Given the description of an element on the screen output the (x, y) to click on. 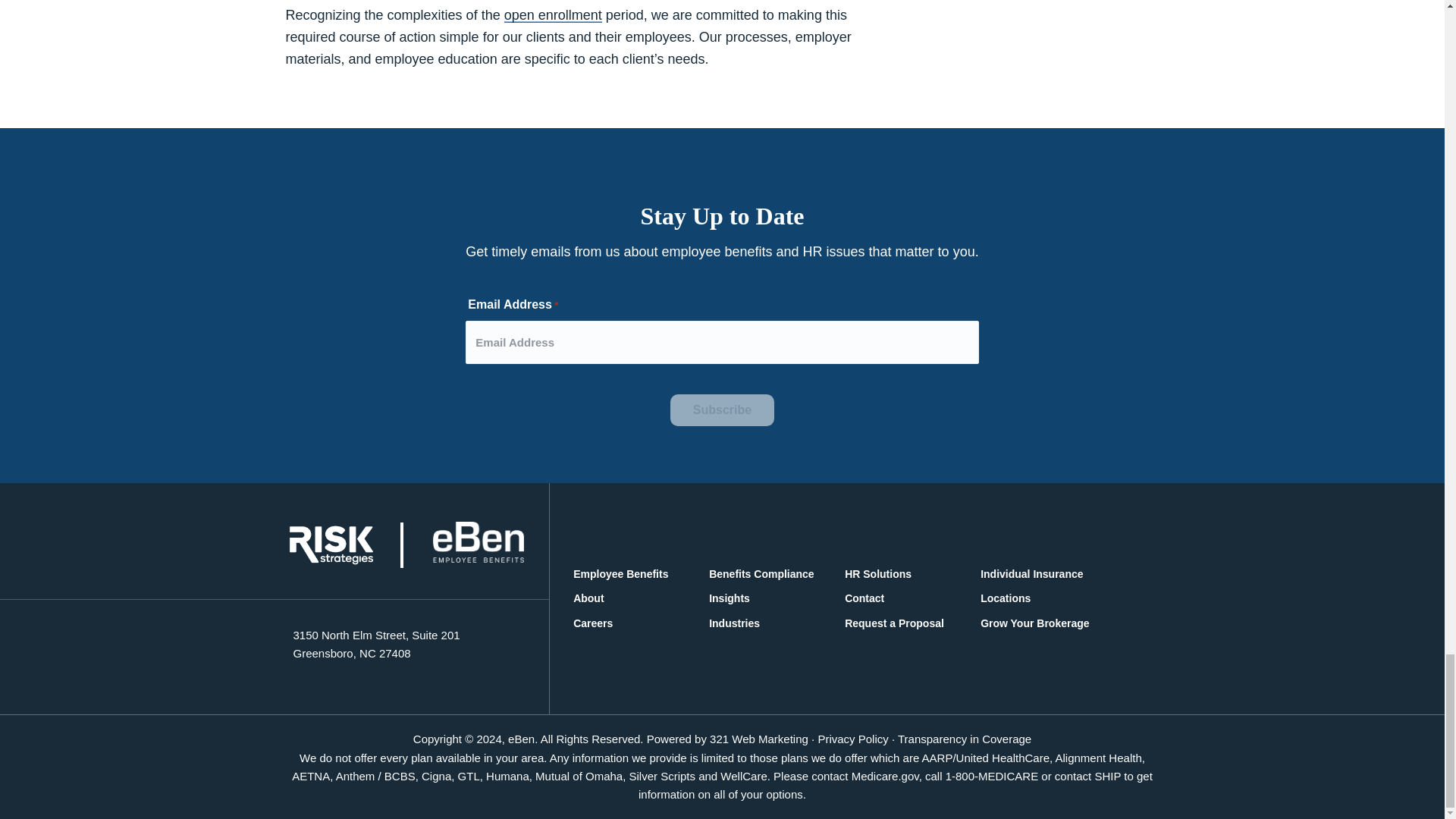
Subscribe (721, 409)
